Given the description of an element on the screen output the (x, y) to click on. 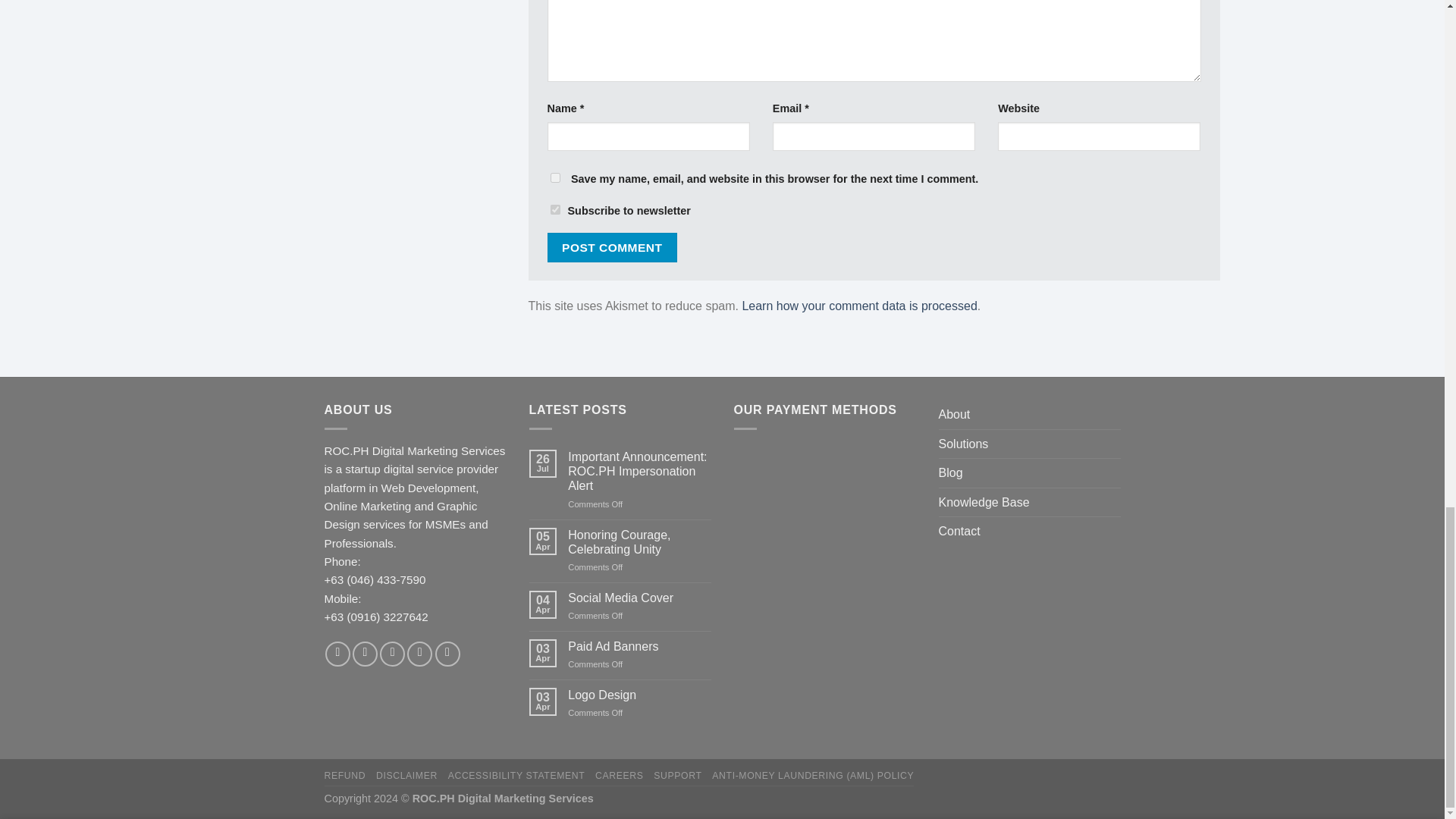
yes (555, 209)
Post Comment (612, 247)
yes (555, 177)
